Given the description of an element on the screen output the (x, y) to click on. 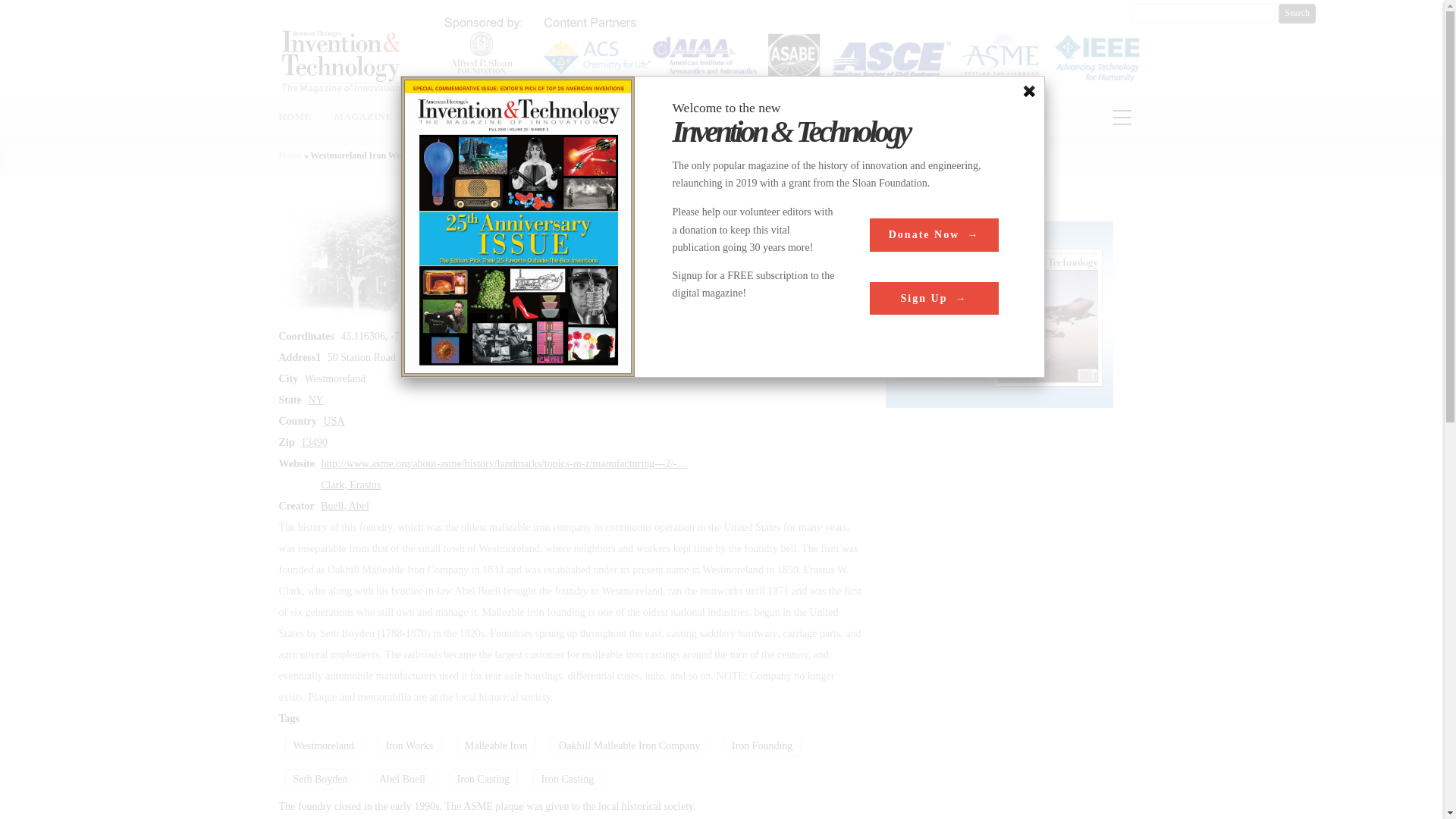
MAGAZINE (368, 116)
Clark, Erastus (350, 484)
Search (1297, 13)
Home (290, 154)
Search (1297, 13)
AUTHORS (451, 116)
Westmoreland (323, 745)
ABOUT (1036, 116)
LOCATIONS (958, 116)
INVENTORS (794, 116)
